Given the description of an element on the screen output the (x, y) to click on. 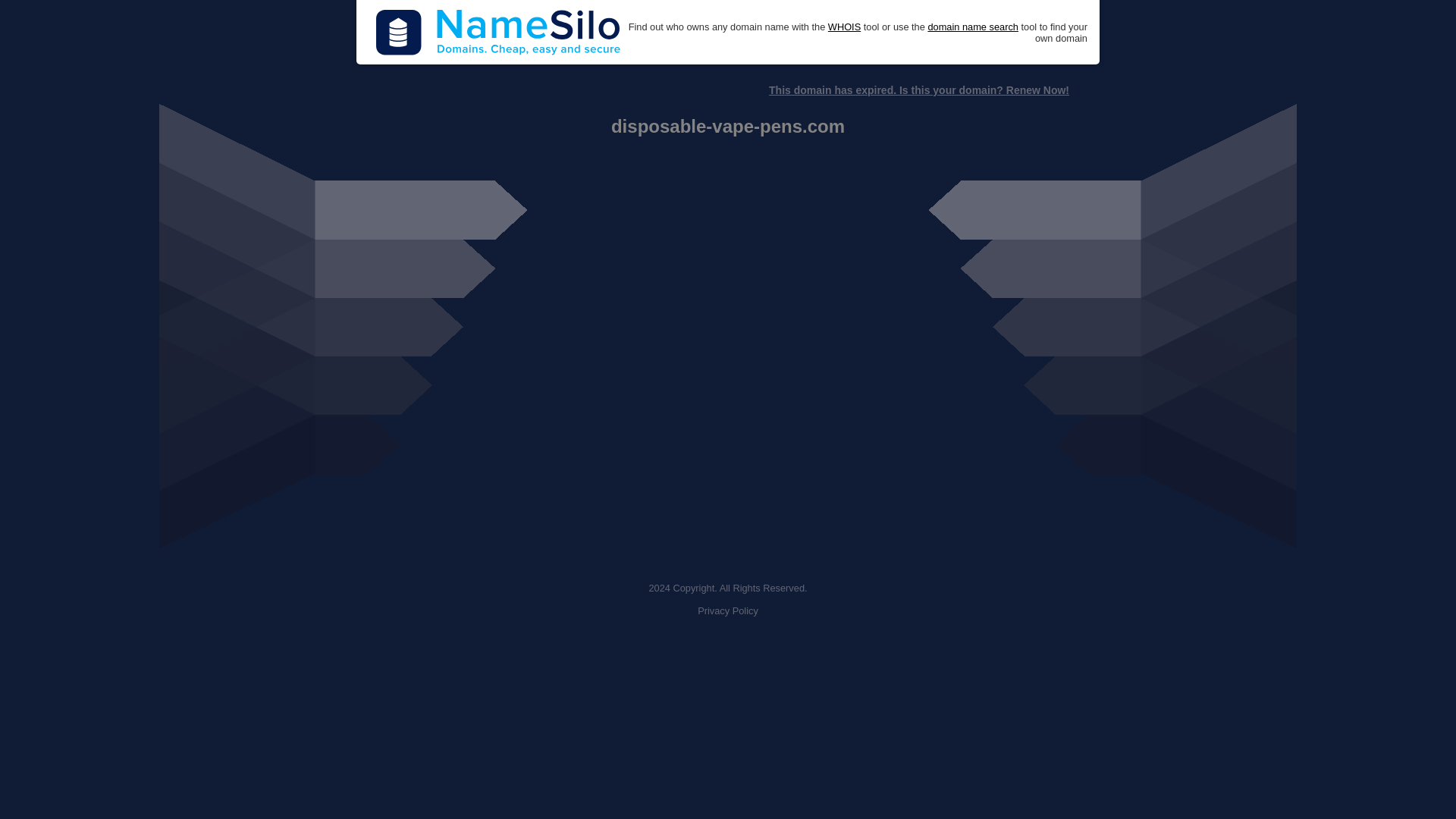
WHOIS (844, 26)
This domain has expired. Is this your domain? Renew Now! (918, 90)
domain name search (972, 26)
Privacy Policy (727, 610)
